Given the description of an element on the screen output the (x, y) to click on. 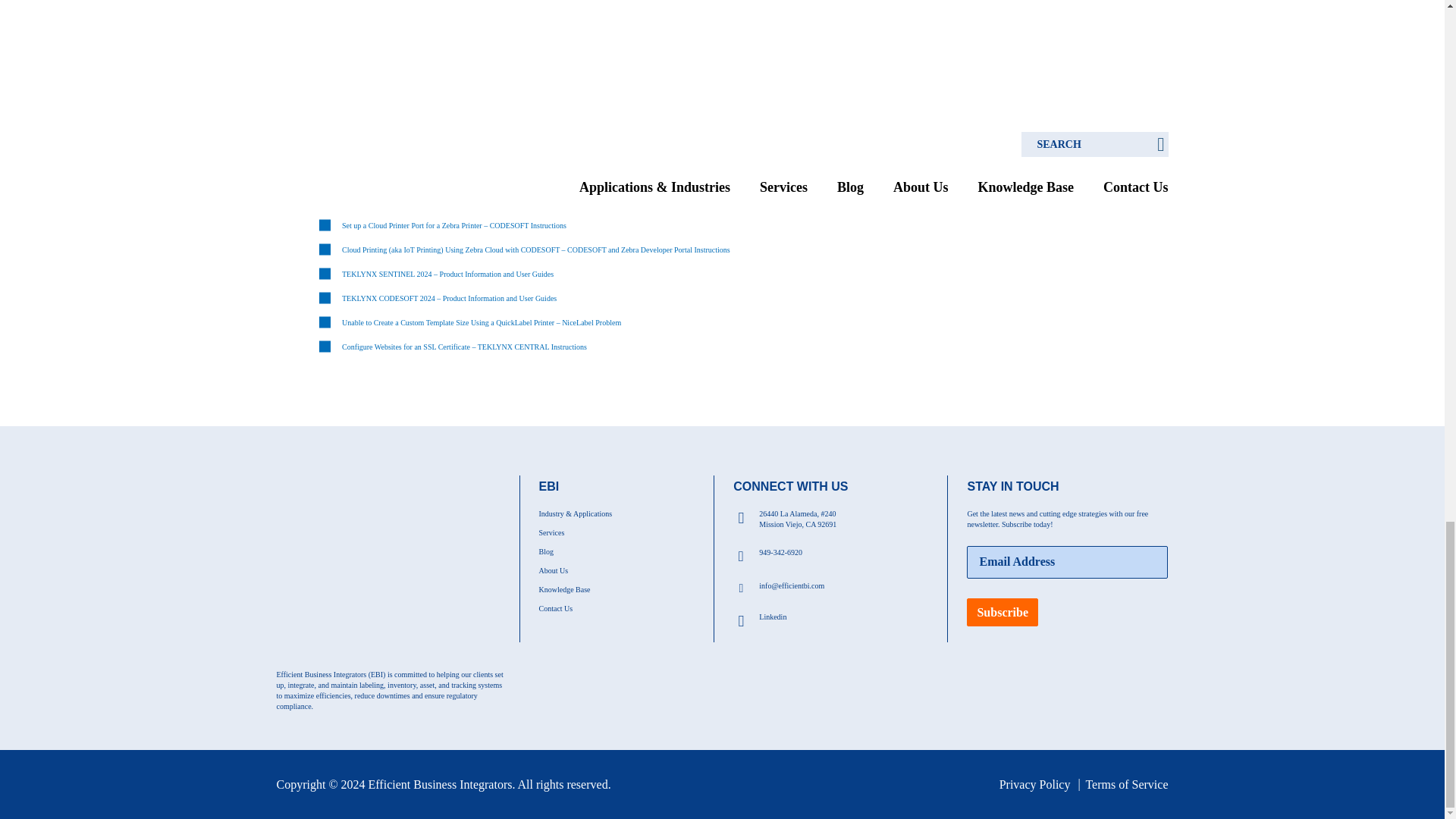
Services (551, 532)
Blog (545, 551)
About Us (552, 570)
Subscribe (1002, 612)
